Given the description of an element on the screen output the (x, y) to click on. 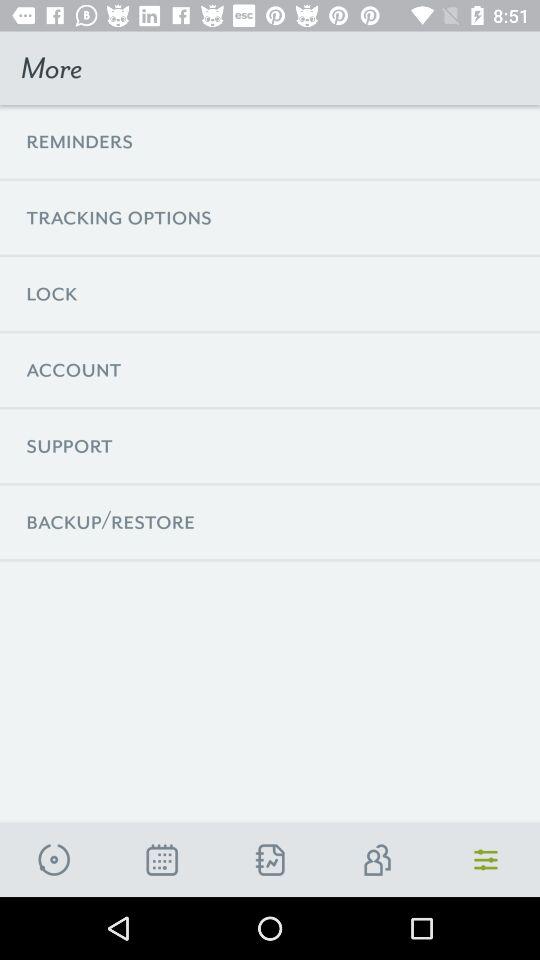
go to account (378, 860)
